Given the description of an element on the screen output the (x, y) to click on. 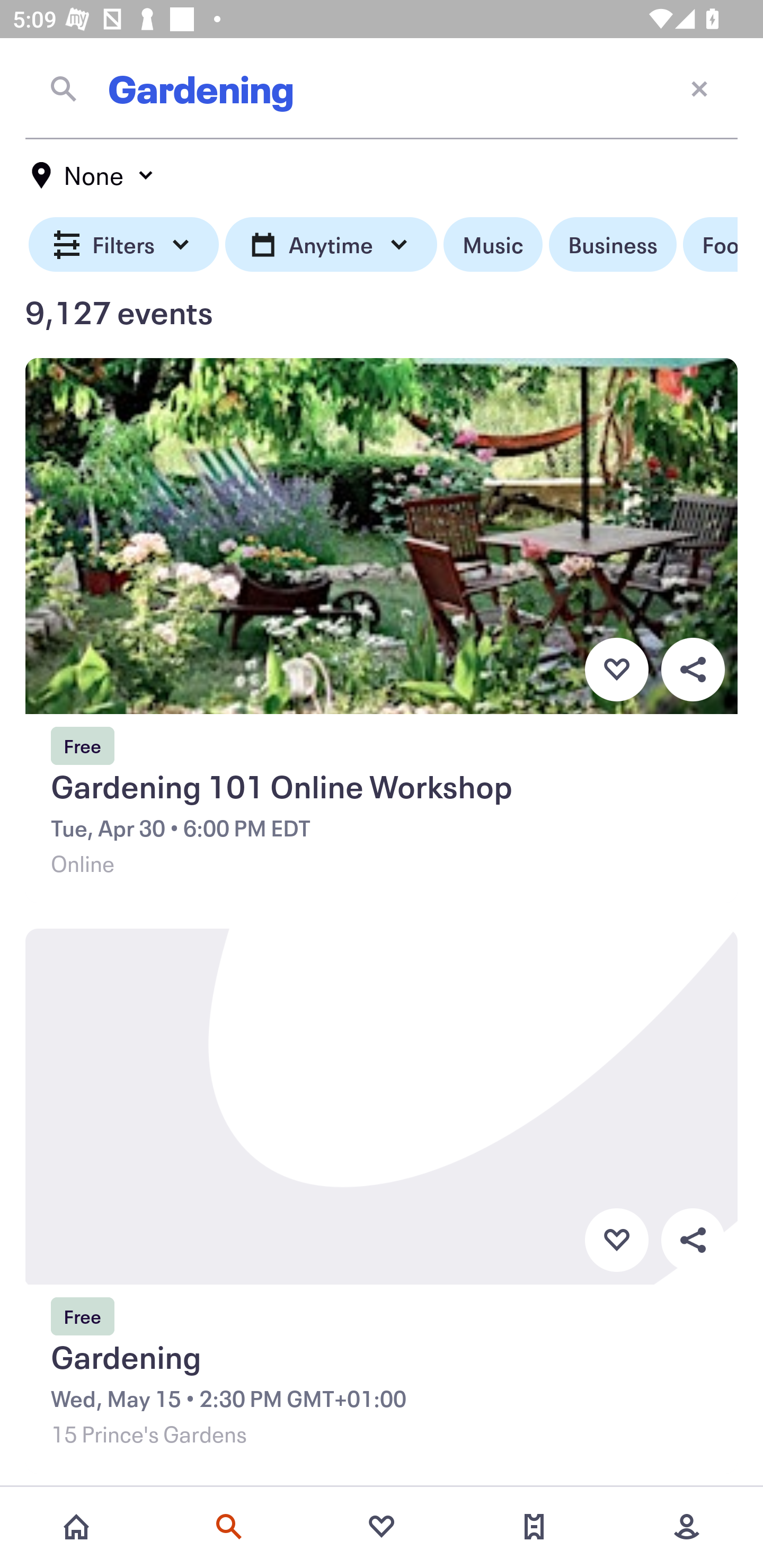
Gardening Close current screen (381, 88)
Close current screen (699, 88)
None (93, 175)
Filters (123, 244)
Anytime (331, 244)
Music (492, 244)
Business (612, 244)
Favorite button (616, 669)
Overflow menu button (692, 669)
Favorite button (616, 1239)
Overflow menu button (692, 1239)
Home (76, 1526)
Search events (228, 1526)
Favorites (381, 1526)
Tickets (533, 1526)
More (686, 1526)
